Given the description of an element on the screen output the (x, y) to click on. 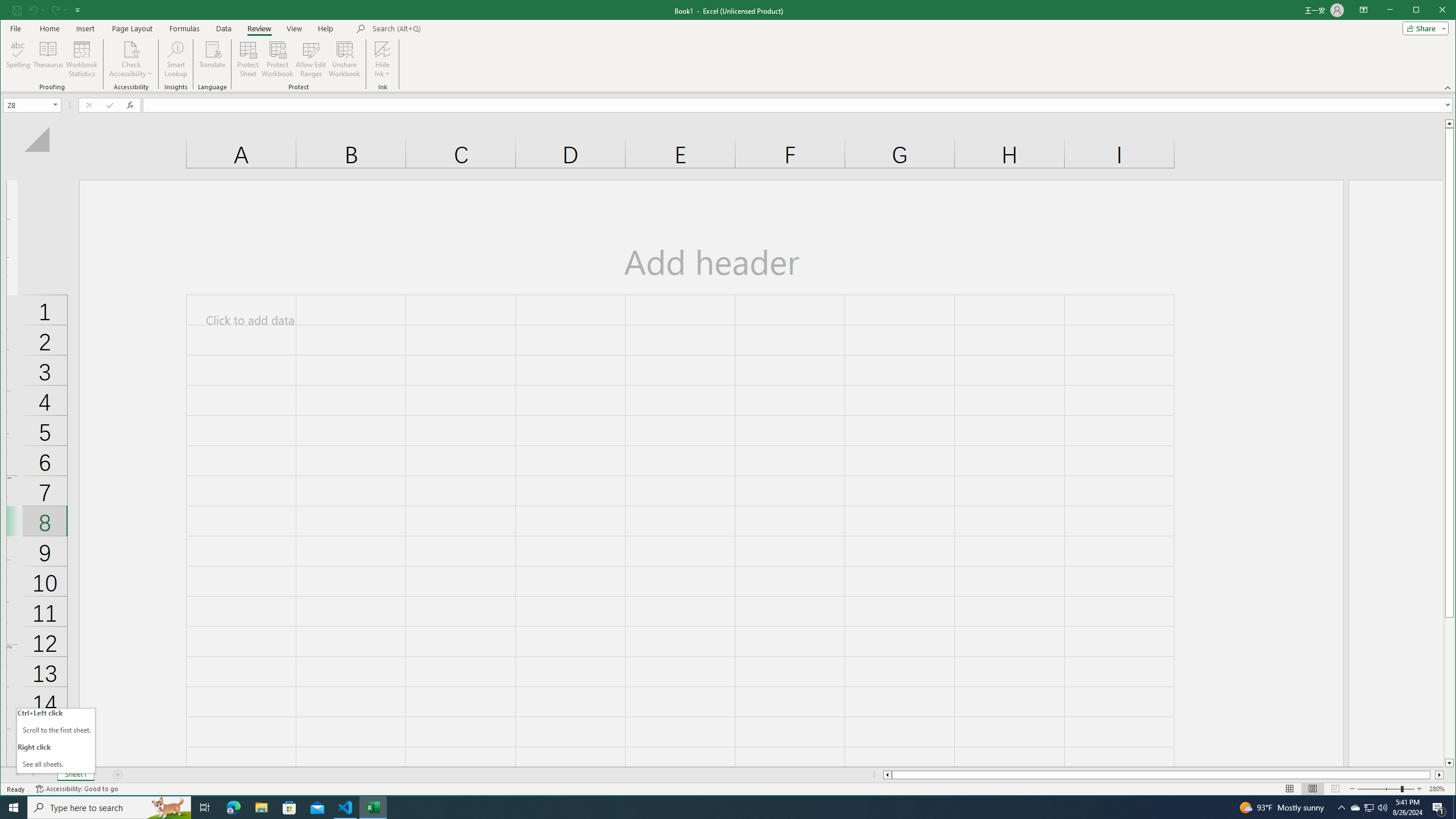
Spelling... (18, 59)
Hide Ink (382, 48)
Protect Workbook... (277, 59)
Maximize (1368, 807)
User Promoted Notification Area (1432, 11)
Allow Edit Ranges (1368, 807)
